Given the description of an element on the screen output the (x, y) to click on. 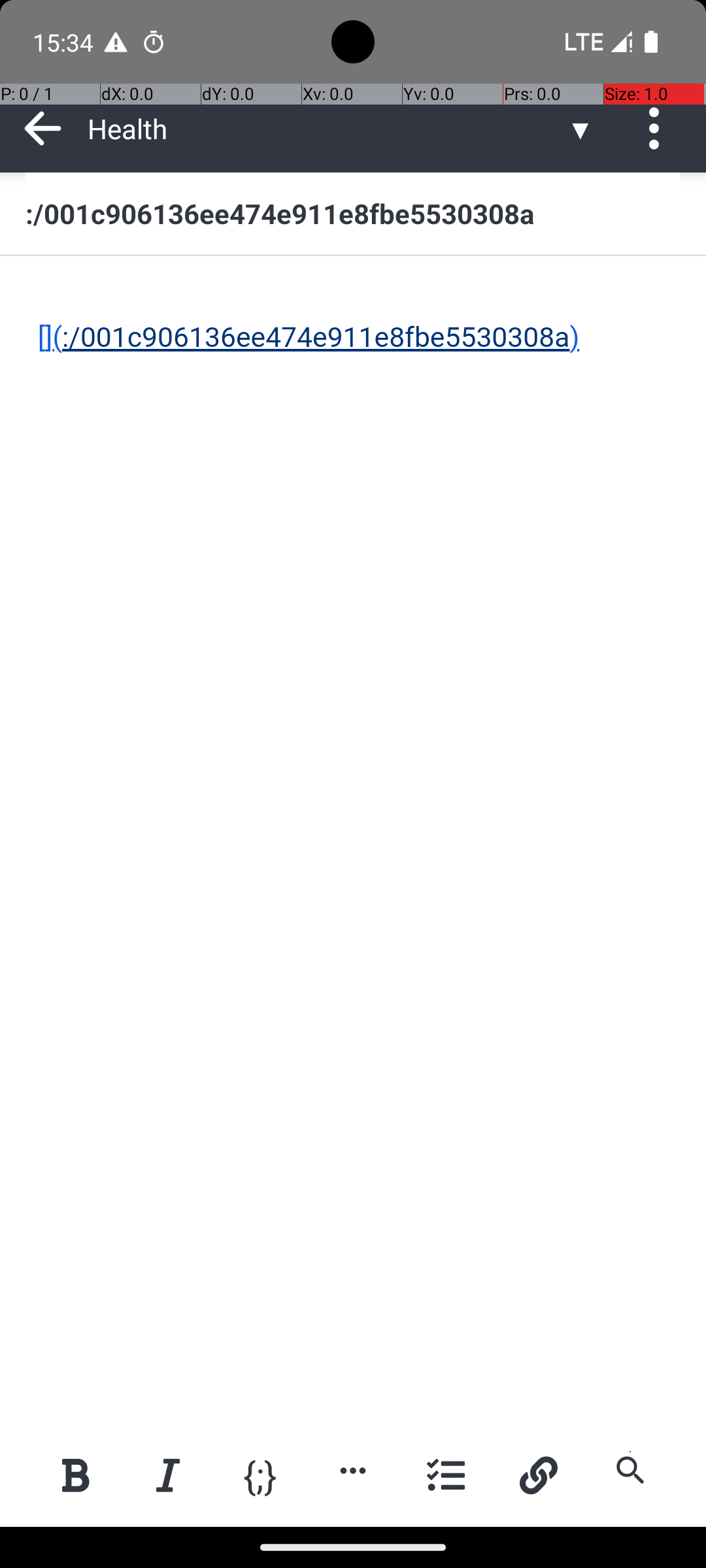
:/001c906136ee474e911e8fbe5530308a Element type: android.widget.EditText (352, 213)

[](:/001c906136ee474e911e8fbe5530308a) Element type: android.widget.EditText (354, 318)
